Given the description of an element on the screen output the (x, y) to click on. 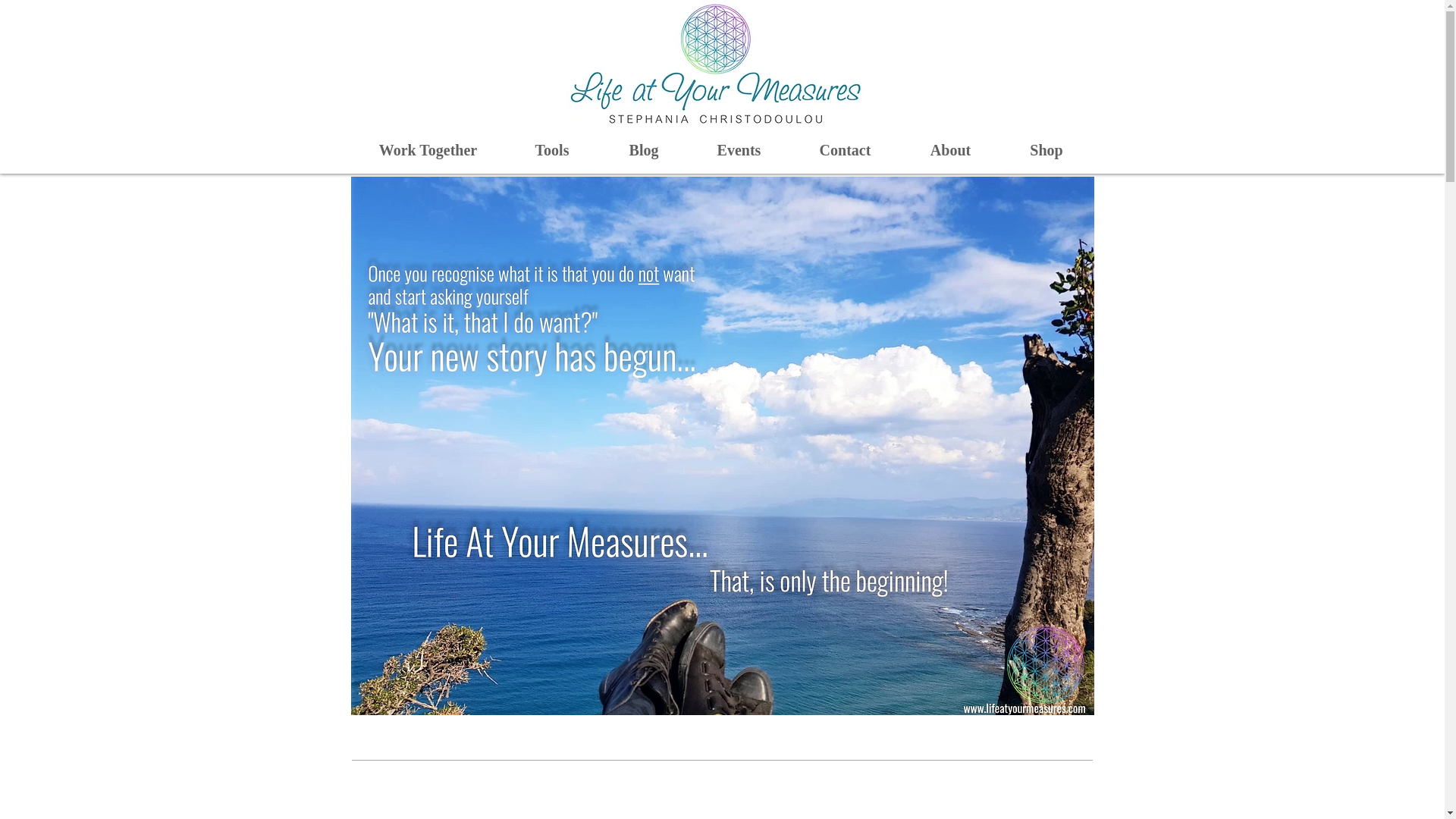
About (951, 150)
Blog (642, 150)
Events (739, 150)
Contact (845, 150)
Shop (1047, 150)
